Given the description of an element on the screen output the (x, y) to click on. 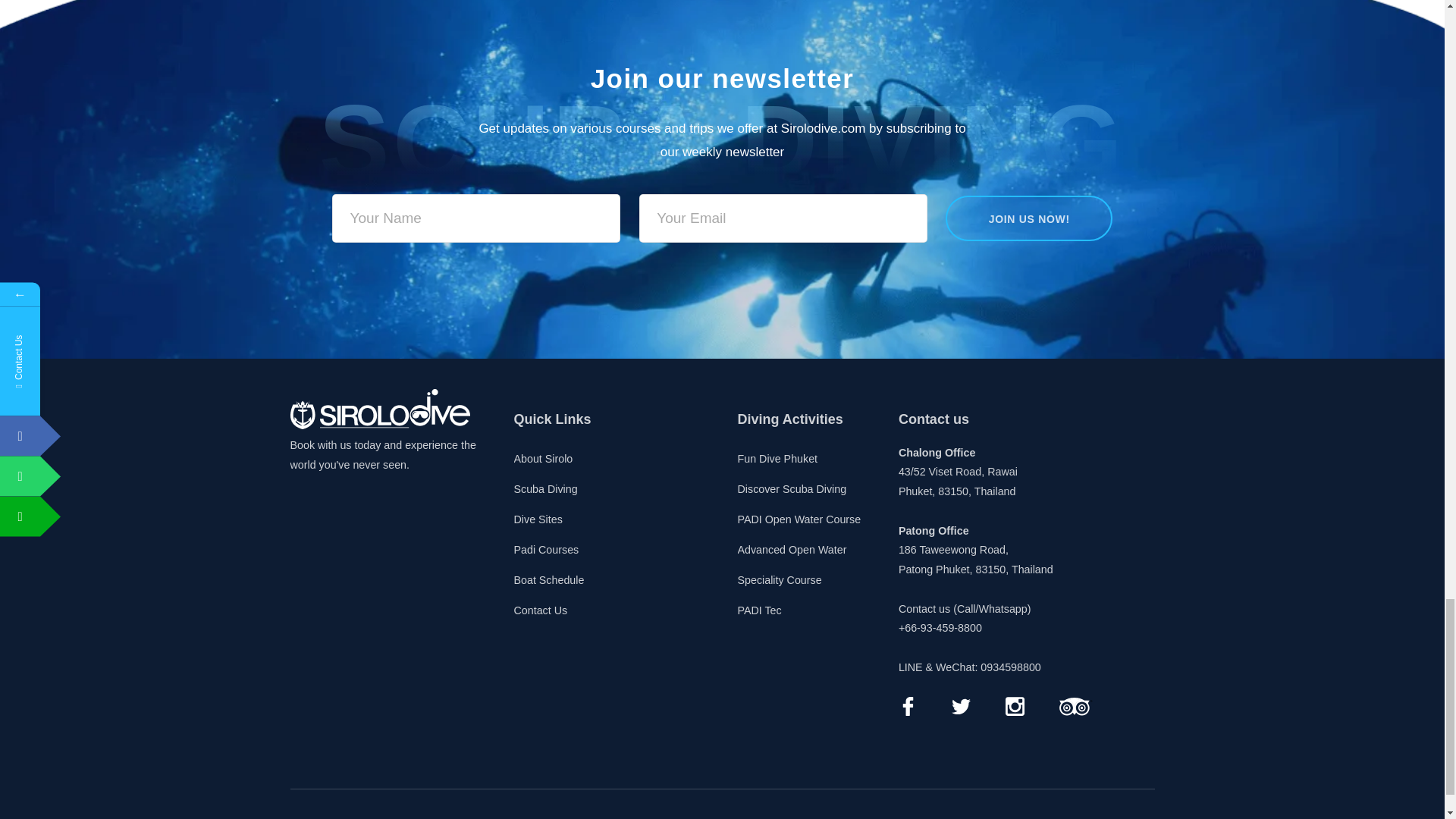
join us now! (1028, 217)
